Given the description of an element on the screen output the (x, y) to click on. 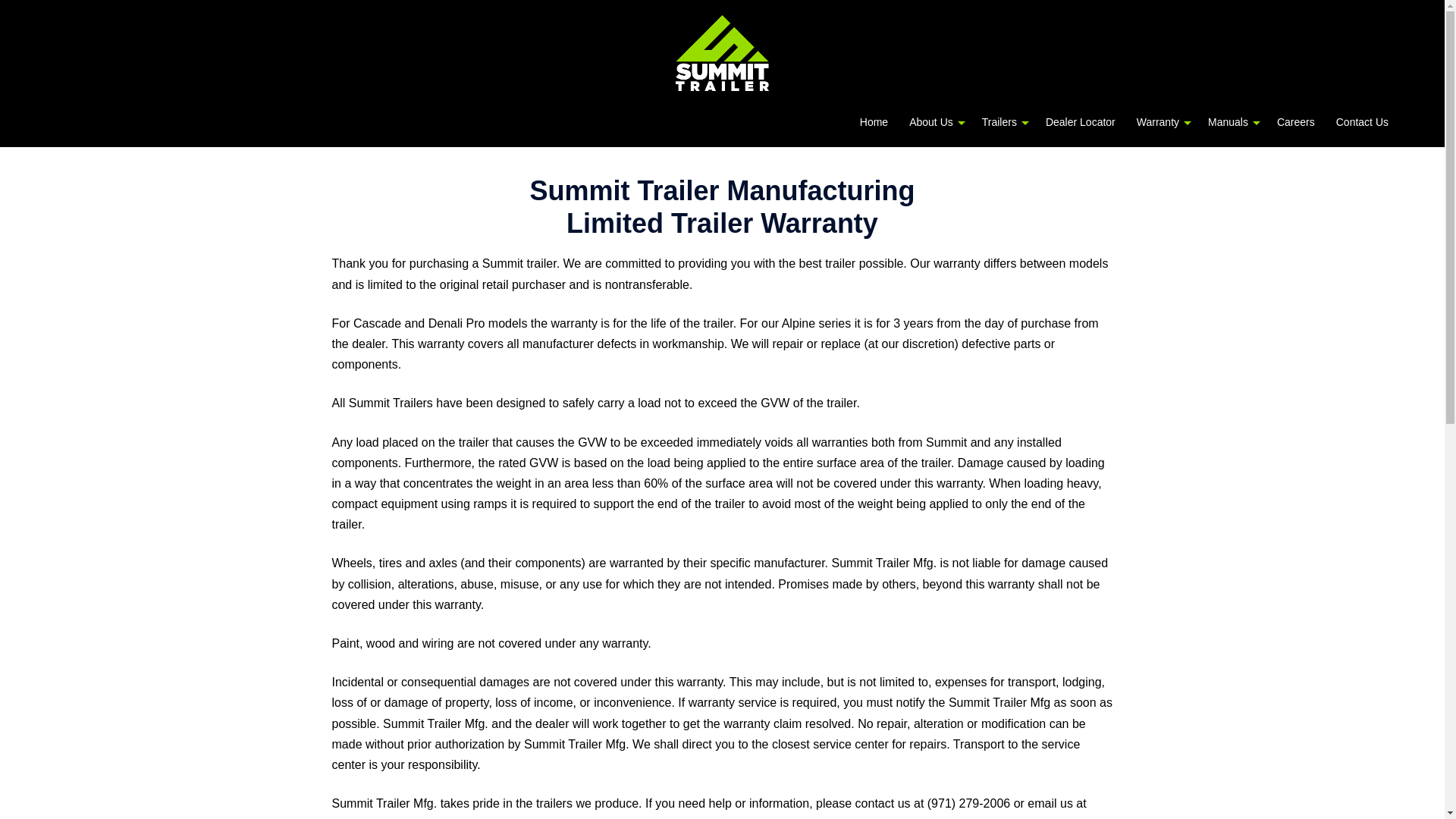
About Us (930, 122)
Home (874, 122)
Contact Us (1362, 122)
Trailers (998, 122)
Summit Trailer Manufacturing (722, 57)
Warranty (1158, 122)
Dealer Locator (1080, 122)
Careers (1295, 122)
Manuals (1227, 122)
